Given the description of an element on the screen output the (x, y) to click on. 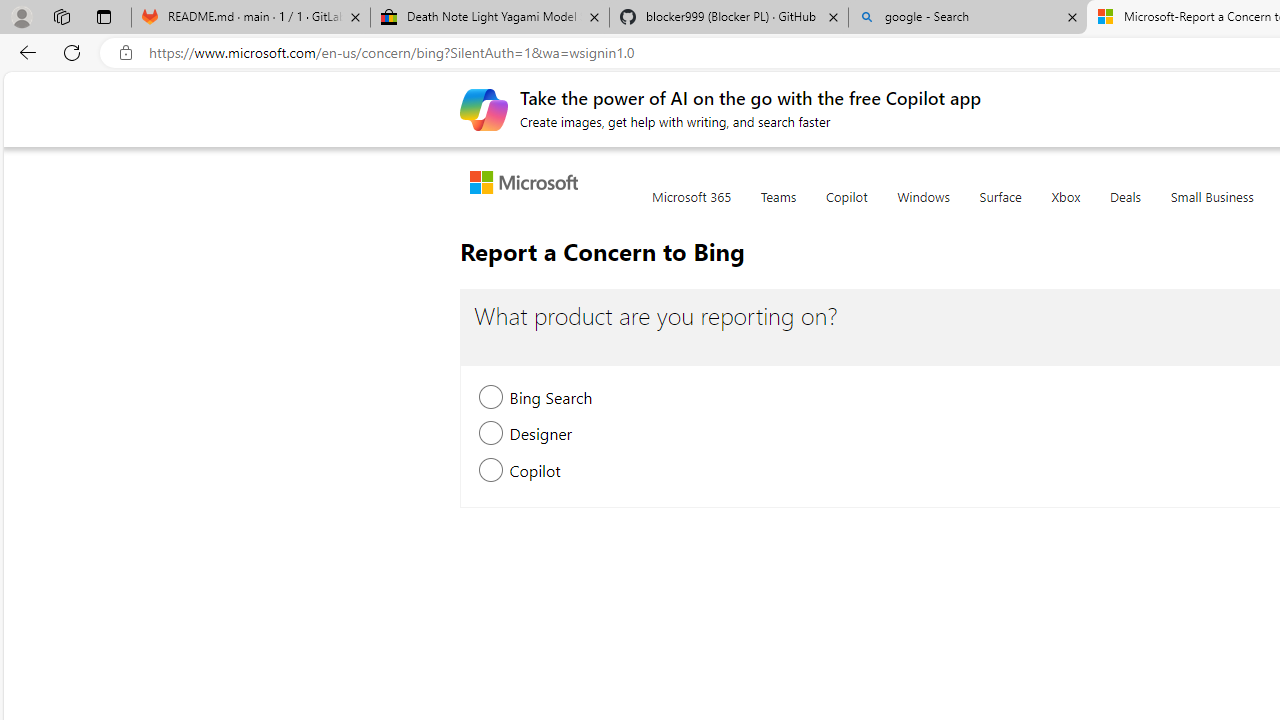
Create images, get help with writing, and search faster (483, 108)
Teams (778, 207)
Copilot (846, 208)
Xbox (1065, 208)
Copilot, new section will be expanded (491, 471)
Copilot (845, 207)
Bing Search, new section will be expanded (491, 399)
Small Business (1211, 208)
